Given the description of an element on the screen output the (x, y) to click on. 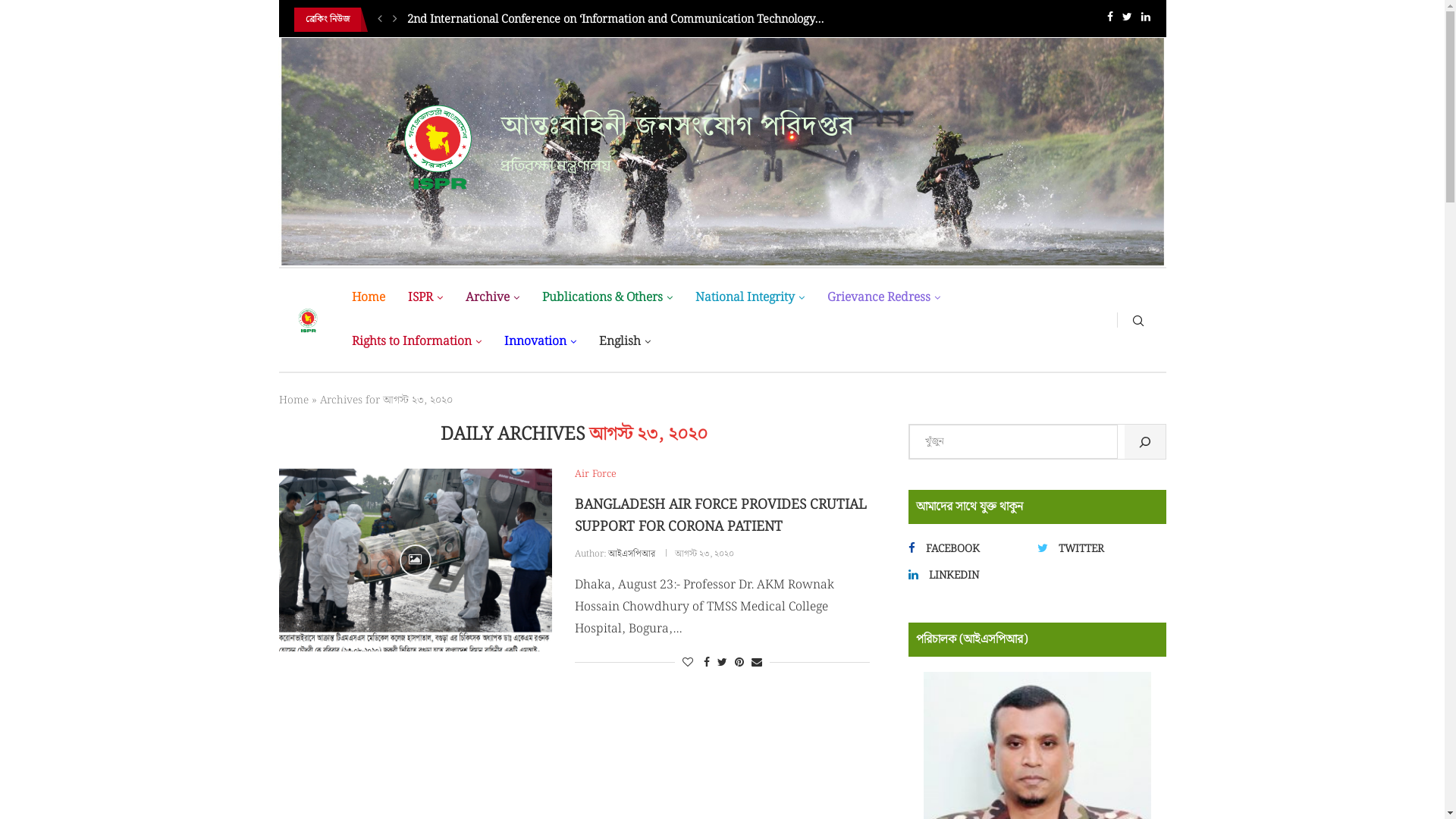
Home Element type: text (368, 298)
VISIT OF BAF DELEGATION TO DIMAPUR, INDIA Element type: text (534, 19)
LINKEDIN Element type: text (967, 574)
Air Force Element type: text (595, 474)
ISPR Element type: text (424, 298)
Like Element type: hover (687, 662)
Grievance Redress Element type: text (883, 298)
FACEBOOK Element type: text (967, 548)
Innovation Element type: text (540, 342)
Archive Element type: text (492, 298)
Home Element type: text (293, 400)
National Integrity Element type: text (749, 298)
English Element type: text (624, 342)
Publications & Others Element type: text (607, 298)
Rights to Information Element type: text (416, 342)
TWITTER Element type: text (1096, 548)
